Given the description of an element on the screen output the (x, y) to click on. 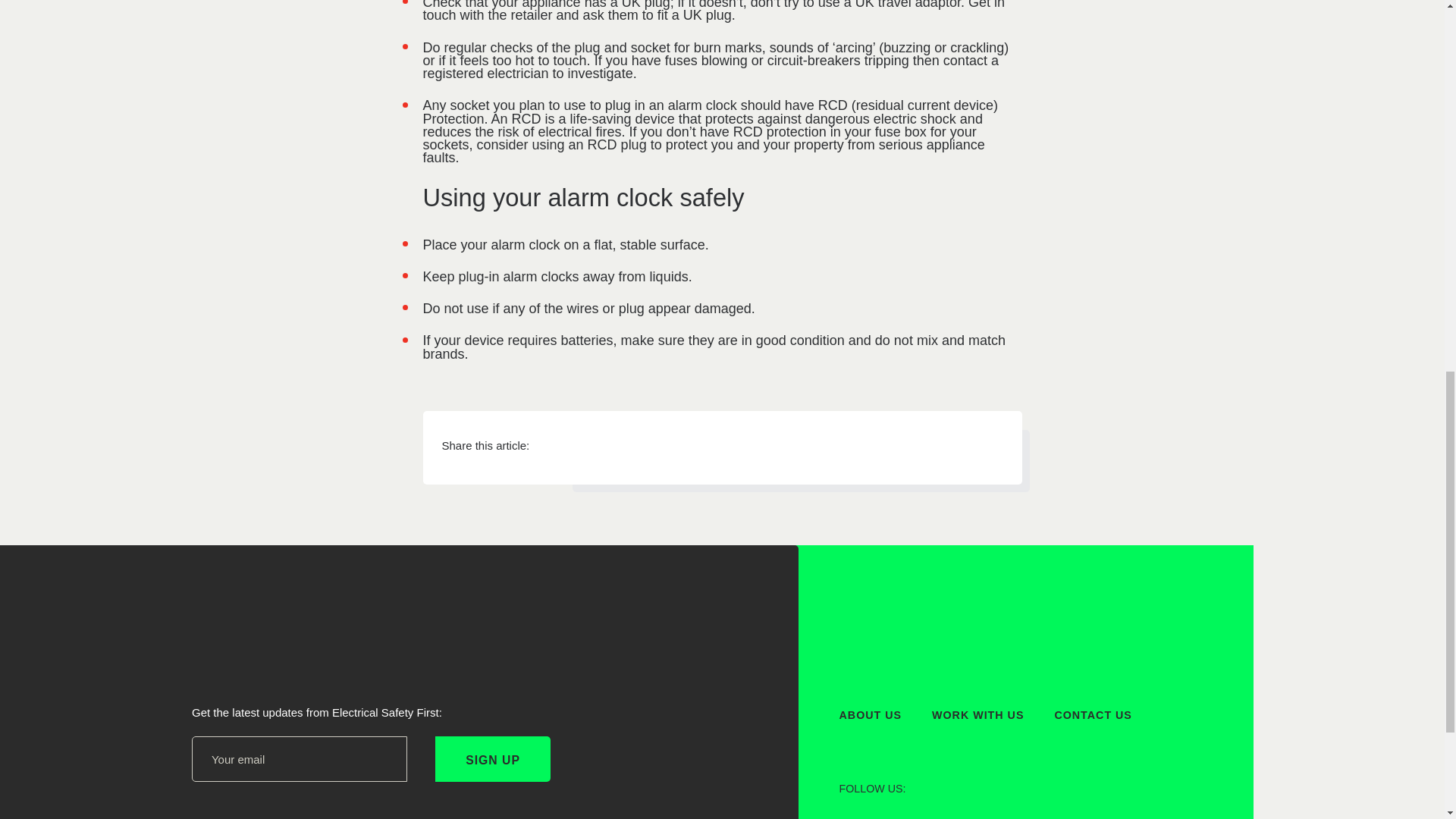
Sign up (492, 759)
